Given the description of an element on the screen output the (x, y) to click on. 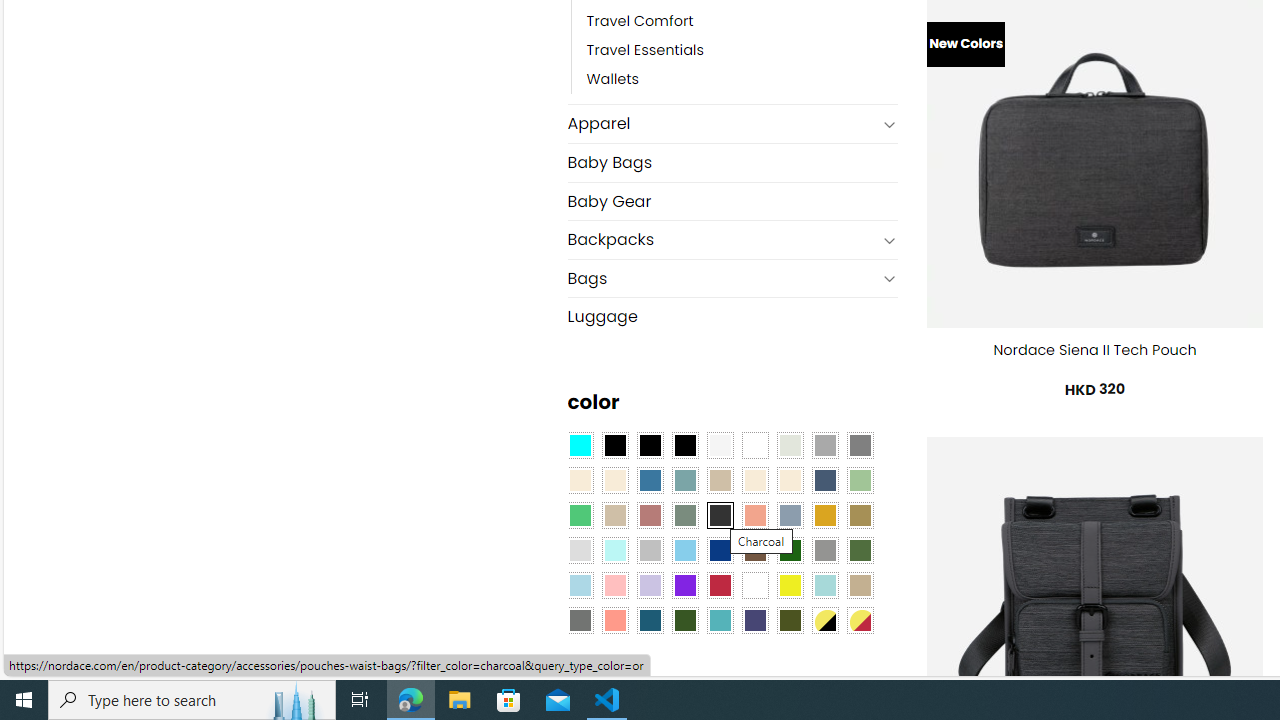
Backpacks (721, 240)
Travel Essentials (645, 51)
Apparel (721, 124)
Light Blue (579, 584)
Coral (755, 514)
Caramel (755, 480)
Travel Comfort (639, 21)
Wallets (613, 79)
Charcoal (719, 514)
Light Green (859, 480)
Sage (684, 514)
Light Taupe (614, 514)
Bags (721, 278)
